Given the description of an element on the screen output the (x, y) to click on. 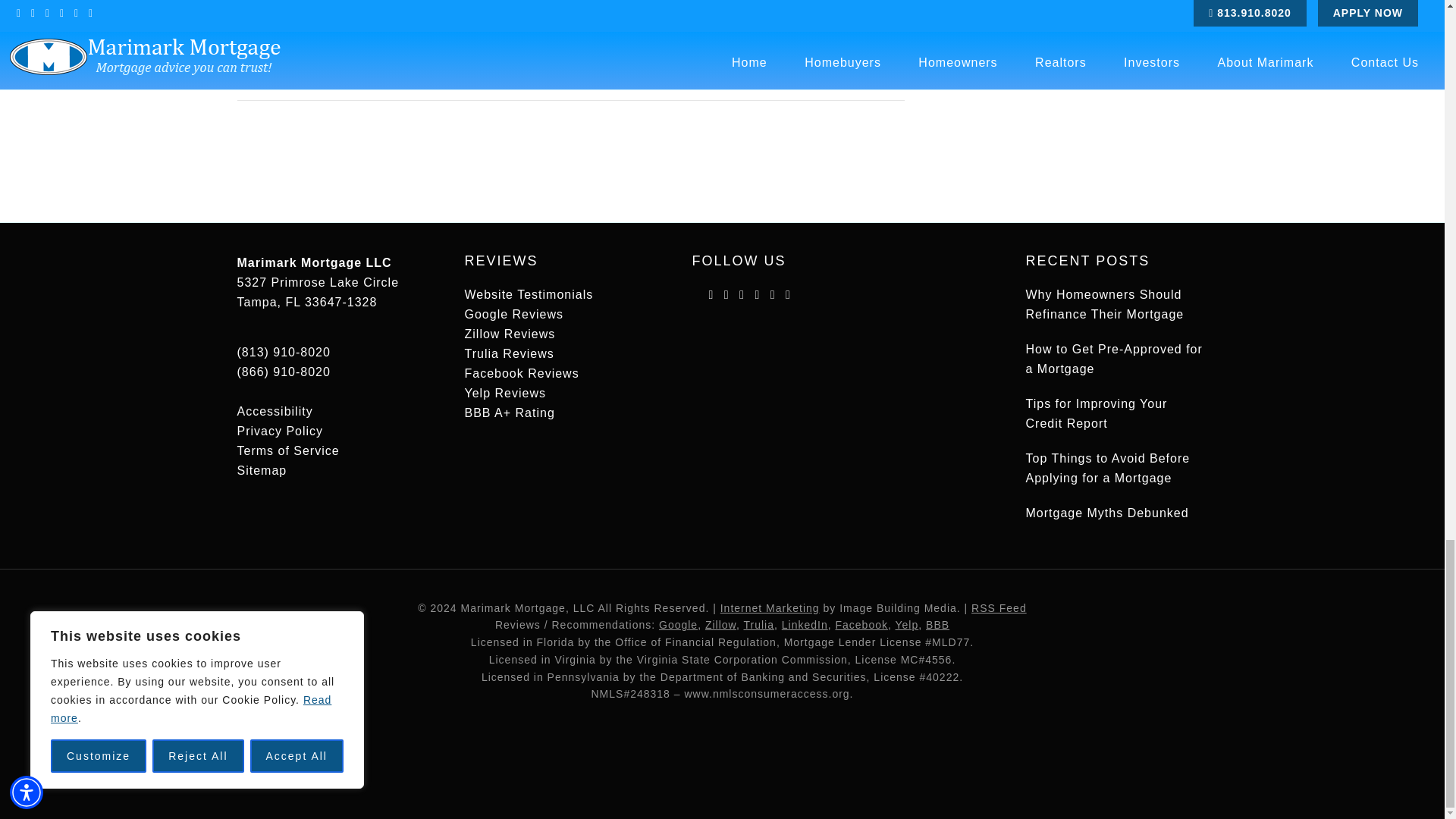
Call Us (282, 351)
Call Us (282, 371)
Accessibility (274, 410)
